Given the description of an element on the screen output the (x, y) to click on. 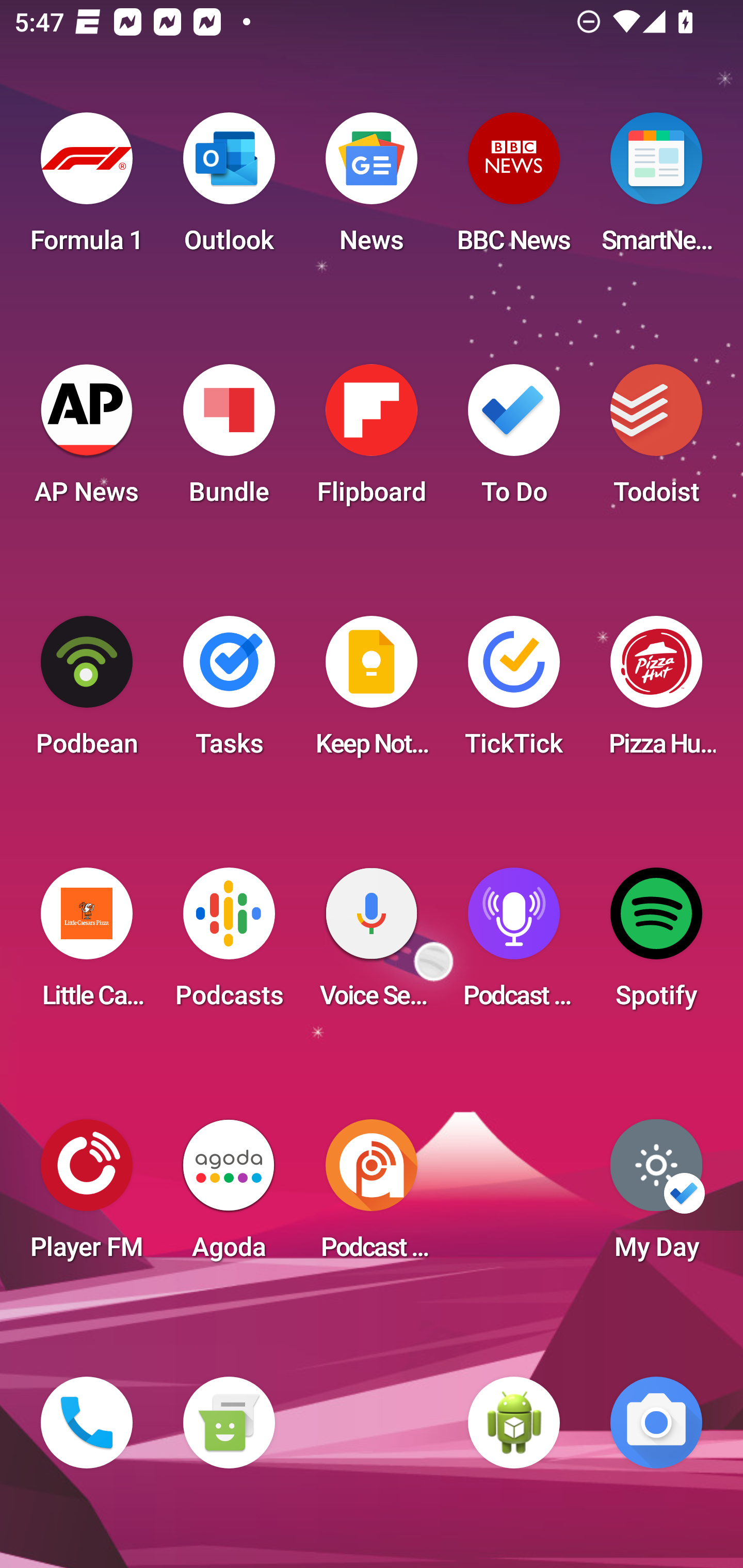
Formula 1 (86, 188)
Outlook (228, 188)
News (371, 188)
BBC News (513, 188)
SmartNews (656, 188)
AP News (86, 440)
Bundle (228, 440)
Flipboard (371, 440)
To Do (513, 440)
Todoist (656, 440)
Podbean (86, 692)
Tasks (228, 692)
Keep Notes (371, 692)
TickTick (513, 692)
Pizza Hut HK & Macau (656, 692)
Little Caesars Pizza (86, 943)
Podcasts (228, 943)
Voice Search (371, 943)
Podcast Player (513, 943)
Spotify (656, 943)
Player FM (86, 1195)
Agoda (228, 1195)
Podcast Addict (371, 1195)
My Day (656, 1195)
Phone (86, 1422)
Messaging (228, 1422)
WebView Browser Tester (513, 1422)
Camera (656, 1422)
